Given the description of an element on the screen output the (x, y) to click on. 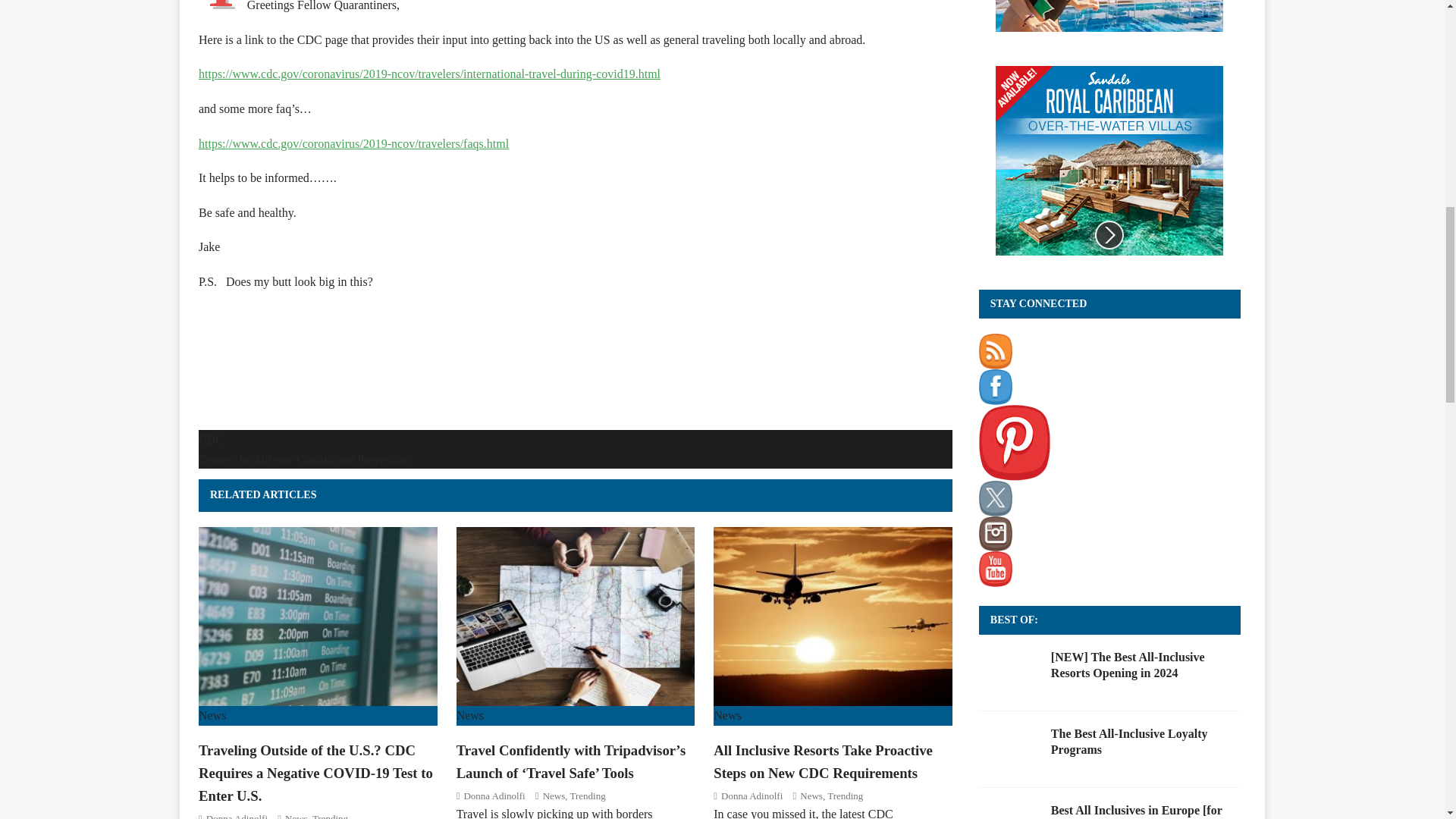
Centers for Disease Control and Prevention (304, 459)
News (554, 795)
Trending (330, 816)
Donna Adinolfi (493, 795)
CDC (211, 439)
News (296, 816)
Donna Adinolfi (236, 816)
